Given the description of an element on the screen output the (x, y) to click on. 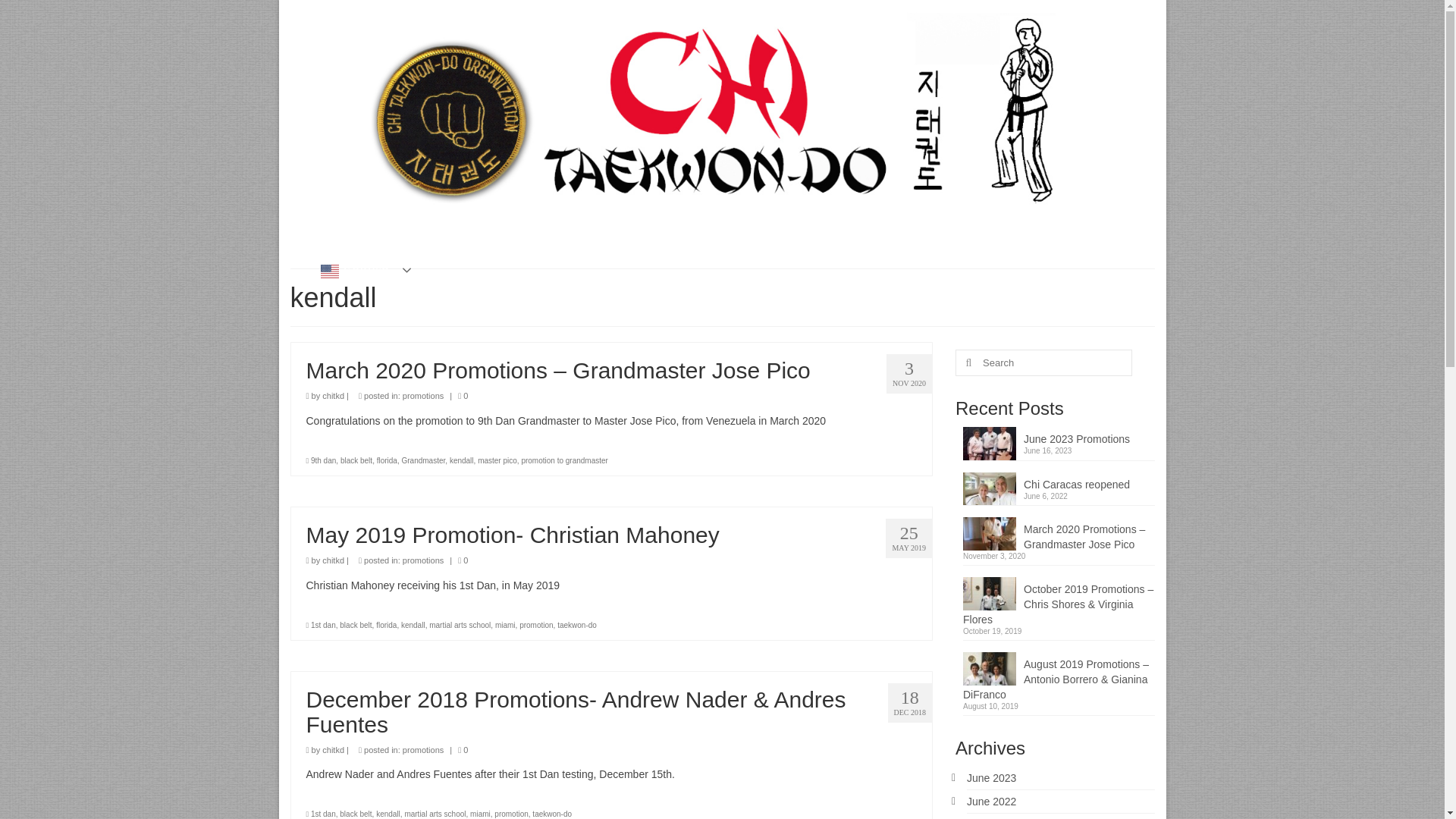
9th dan (323, 460)
chitkd (332, 395)
News (646, 241)
master pico (496, 460)
kendall (461, 460)
promotion to grandmaster (564, 460)
Links (1074, 241)
promotions (423, 560)
florida (387, 460)
June 2023 Promotions (1058, 436)
